Given the description of an element on the screen output the (x, y) to click on. 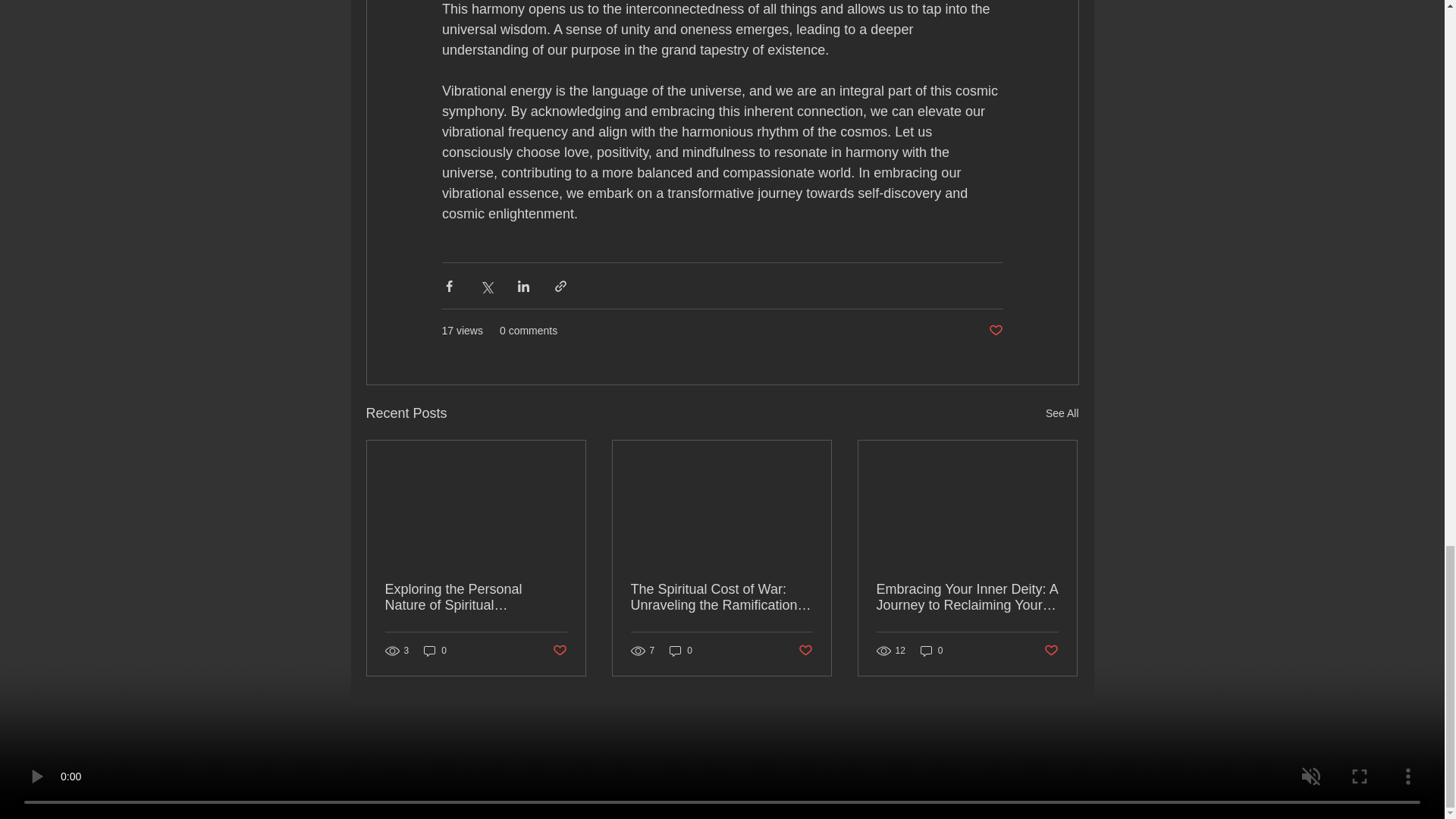
0 (435, 650)
Post not marked as liked (995, 330)
Post not marked as liked (558, 650)
See All (1061, 413)
0 (681, 650)
